Given the description of an element on the screen output the (x, y) to click on. 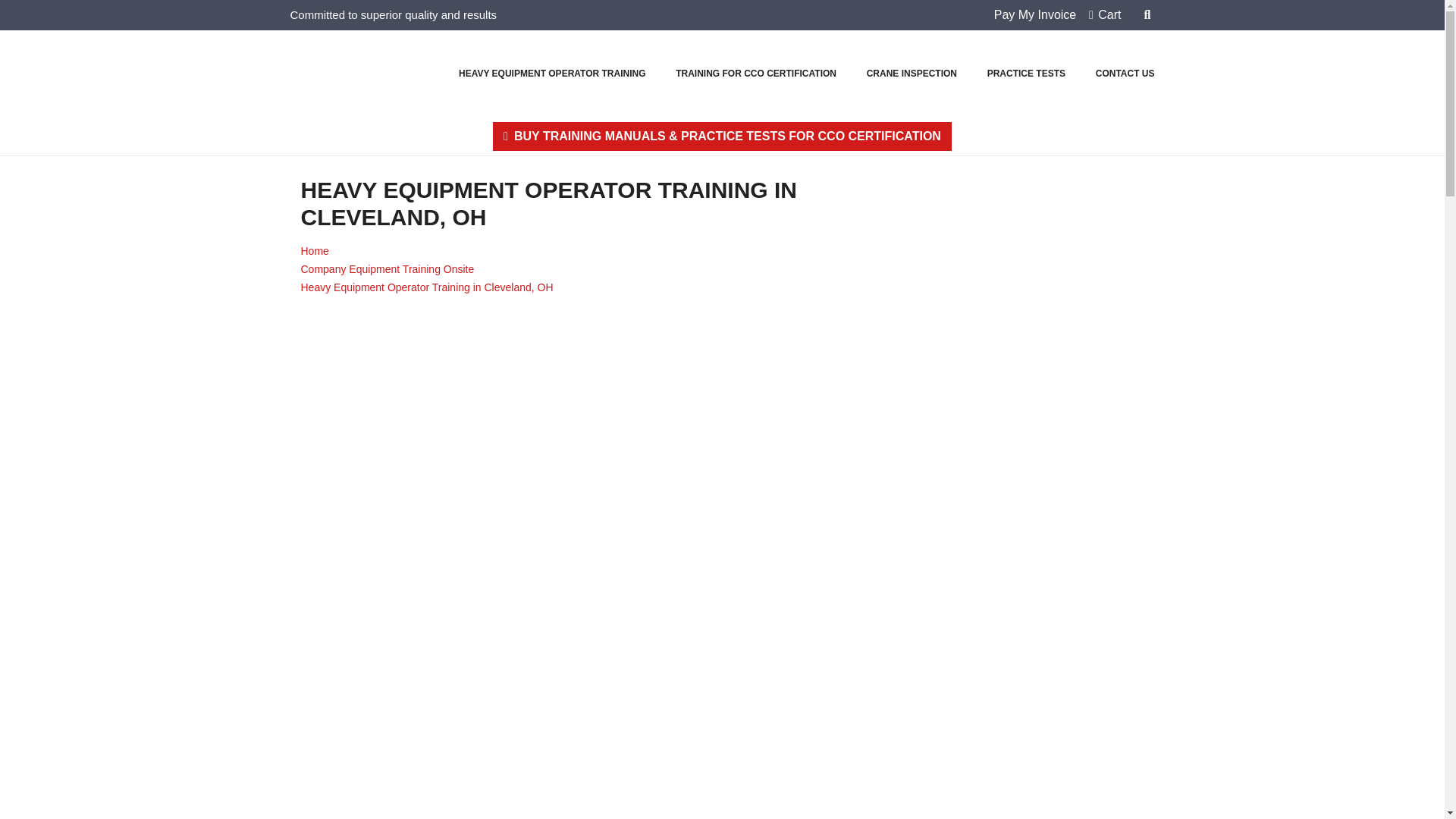
CRANE INSPECTION (911, 73)
TRAINING FOR CCO CERTIFICATION (756, 73)
Cart (1105, 14)
Pay My Invoice (1031, 14)
Heavy Equipment Operator Training in Cleveland, OH (426, 287)
Company Equipment Training Onsite (386, 268)
Home (314, 250)
CONTACT US (1124, 73)
PRACTICE TESTS (1026, 73)
HEAVY EQUIPMENT OPERATOR TRAINING (551, 73)
